Given the description of an element on the screen output the (x, y) to click on. 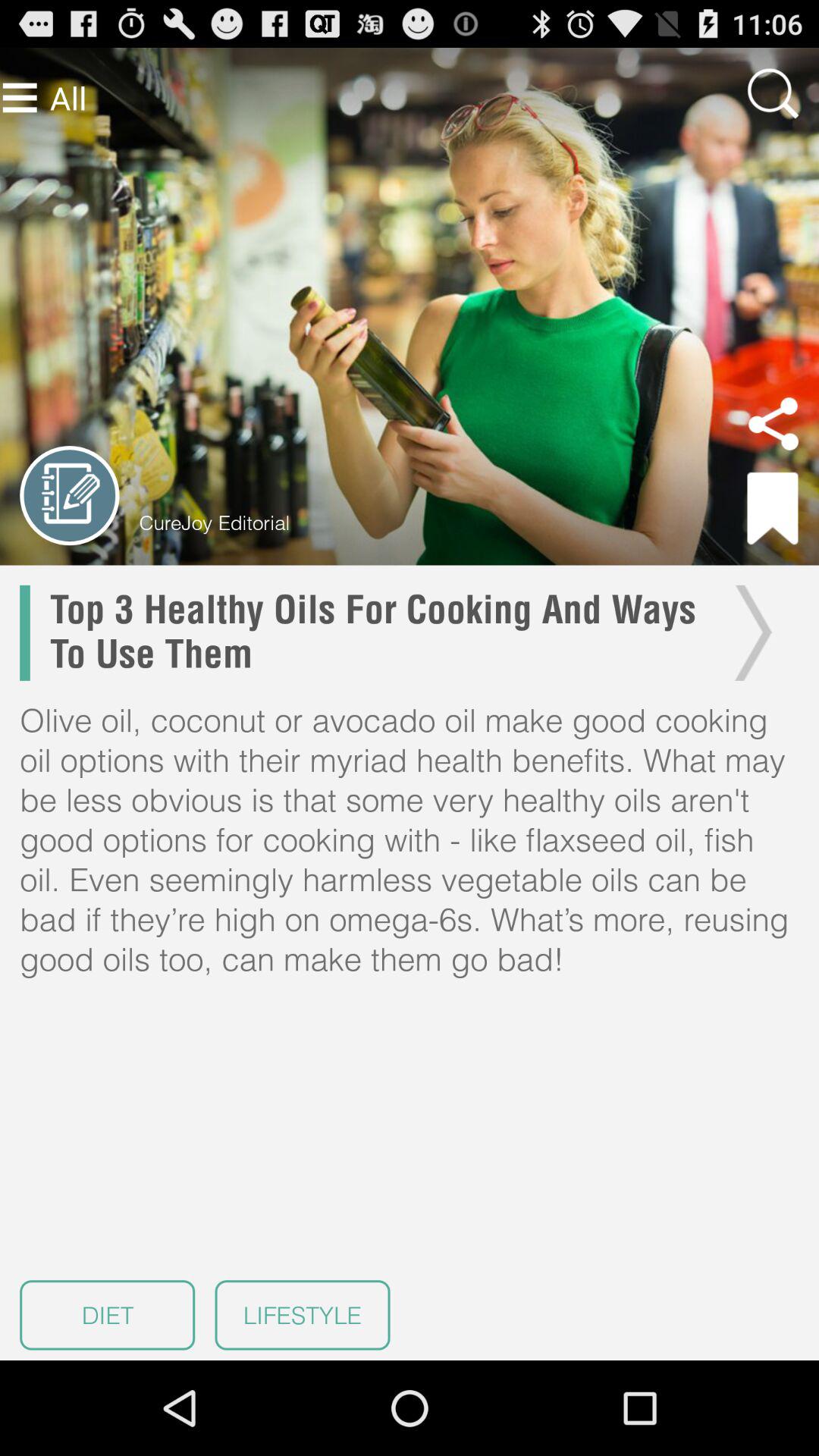
save (773, 508)
